Given the description of an element on the screen output the (x, y) to click on. 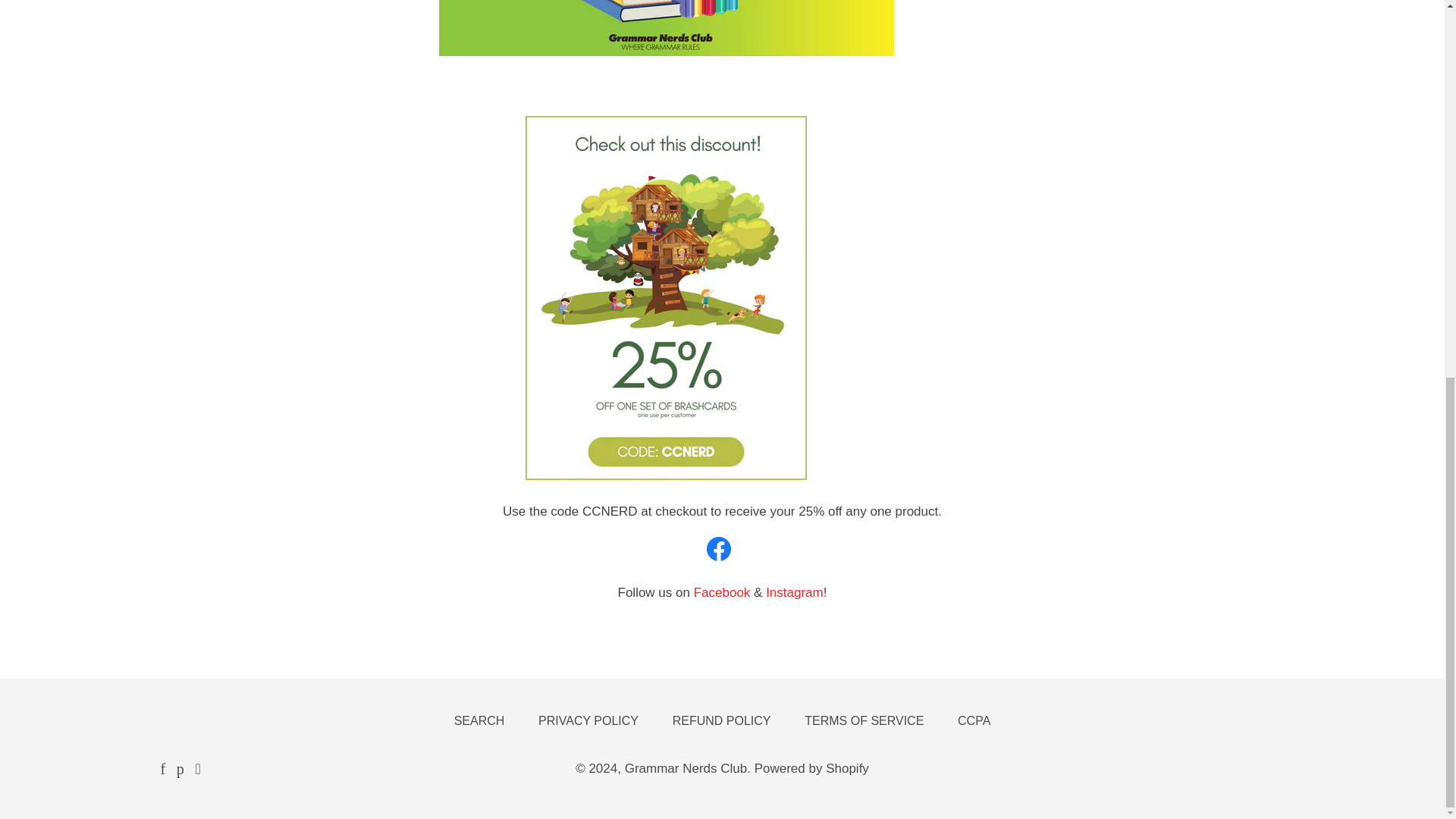
Instagram (794, 592)
Facebook (724, 592)
SEARCH (479, 721)
PRIVACY POLICY (587, 721)
